Given the description of an element on the screen output the (x, y) to click on. 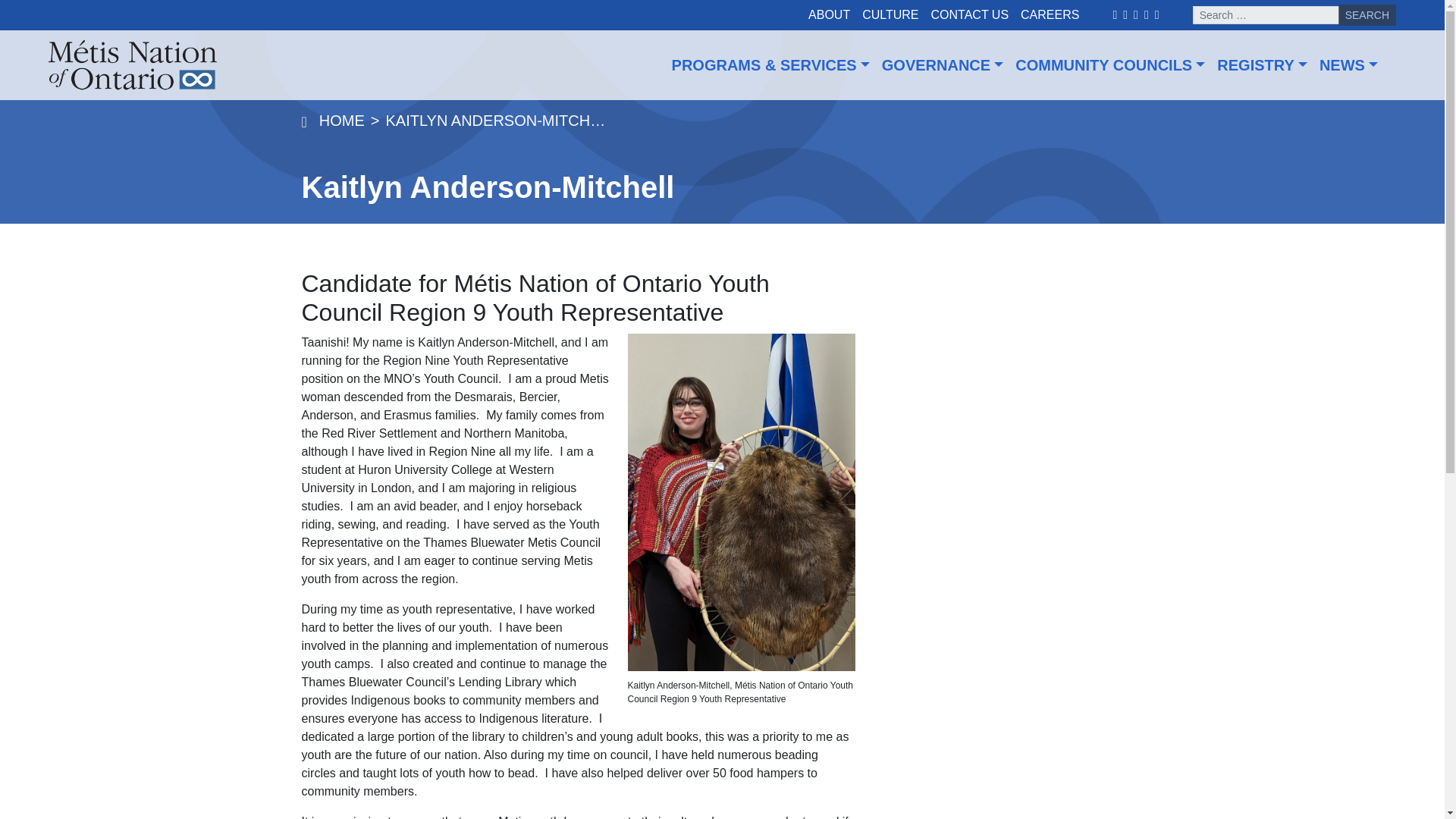
CAREERS (1049, 15)
ABOUT (829, 15)
Search (1367, 15)
About (829, 15)
Careers (1049, 15)
Contact Us (969, 15)
Search (1367, 15)
CONTACT US (969, 15)
Culture (890, 15)
CULTURE (890, 15)
